Given the description of an element on the screen output the (x, y) to click on. 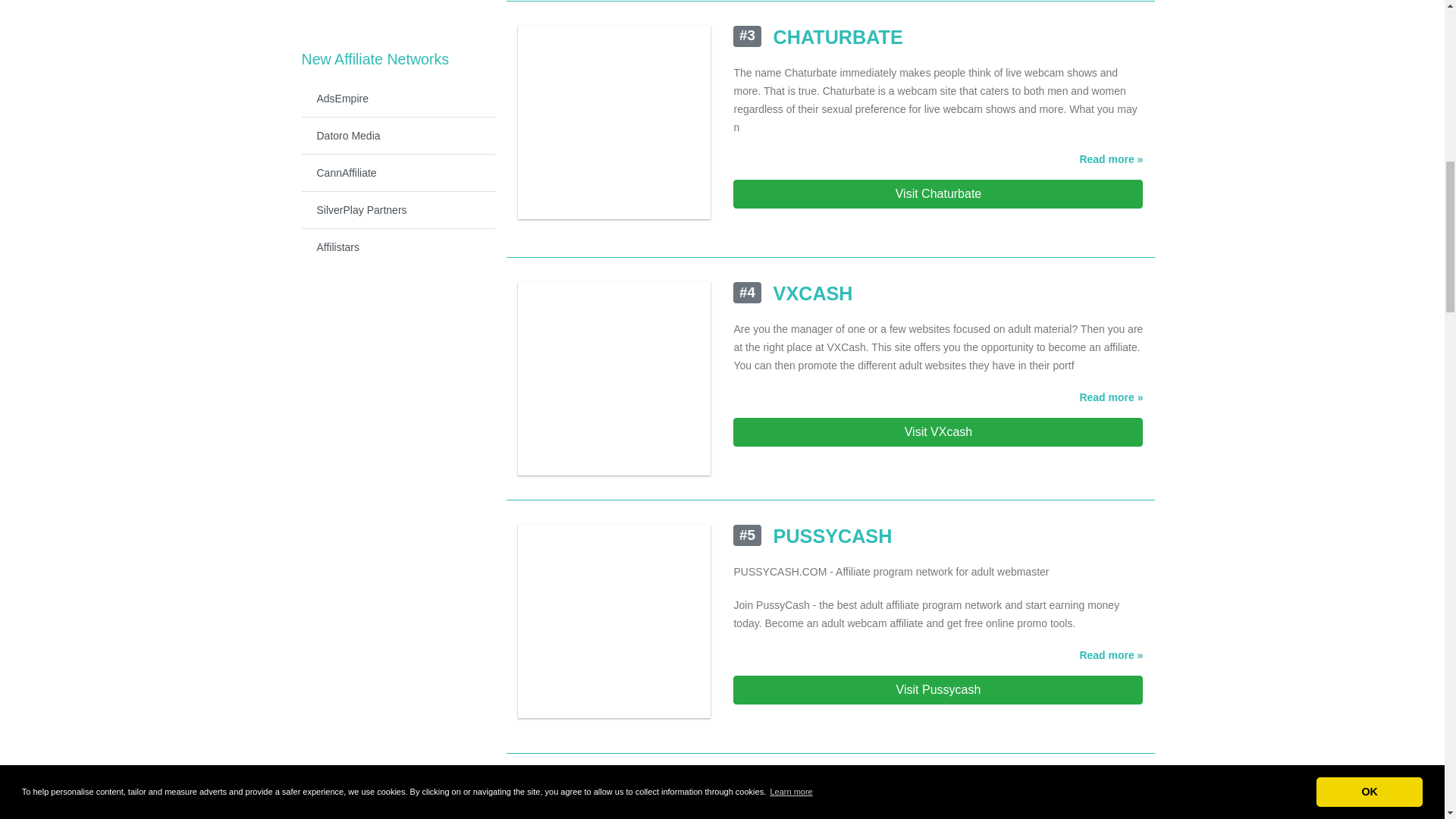
Complete List (398, 3)
All Affiliate Networks (398, 3)
AdsEmpire (398, 98)
